Given the description of an element on the screen output the (x, y) to click on. 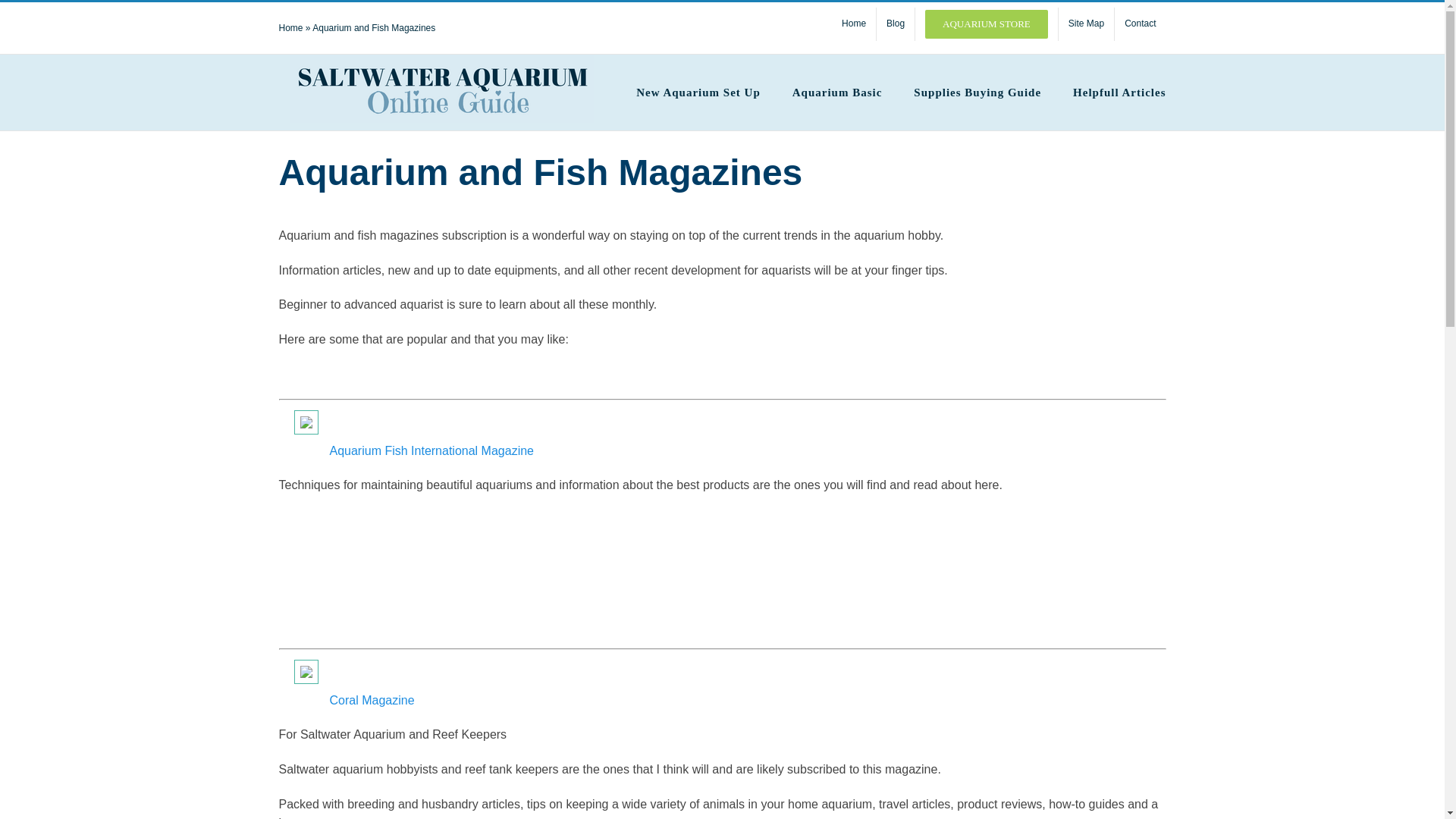
Aquarium Basic (837, 92)
Helpfull Articles (1119, 92)
Home (290, 27)
Home (853, 23)
Site Map (1085, 23)
New Aquarium Set Up (698, 92)
Why a Saltwater Aquarium Online Guide? (853, 23)
Online aquarium Store (986, 23)
AQUARIUM STORE (986, 23)
Aquarium Fish International Magazine (430, 450)
